Given the description of an element on the screen output the (x, y) to click on. 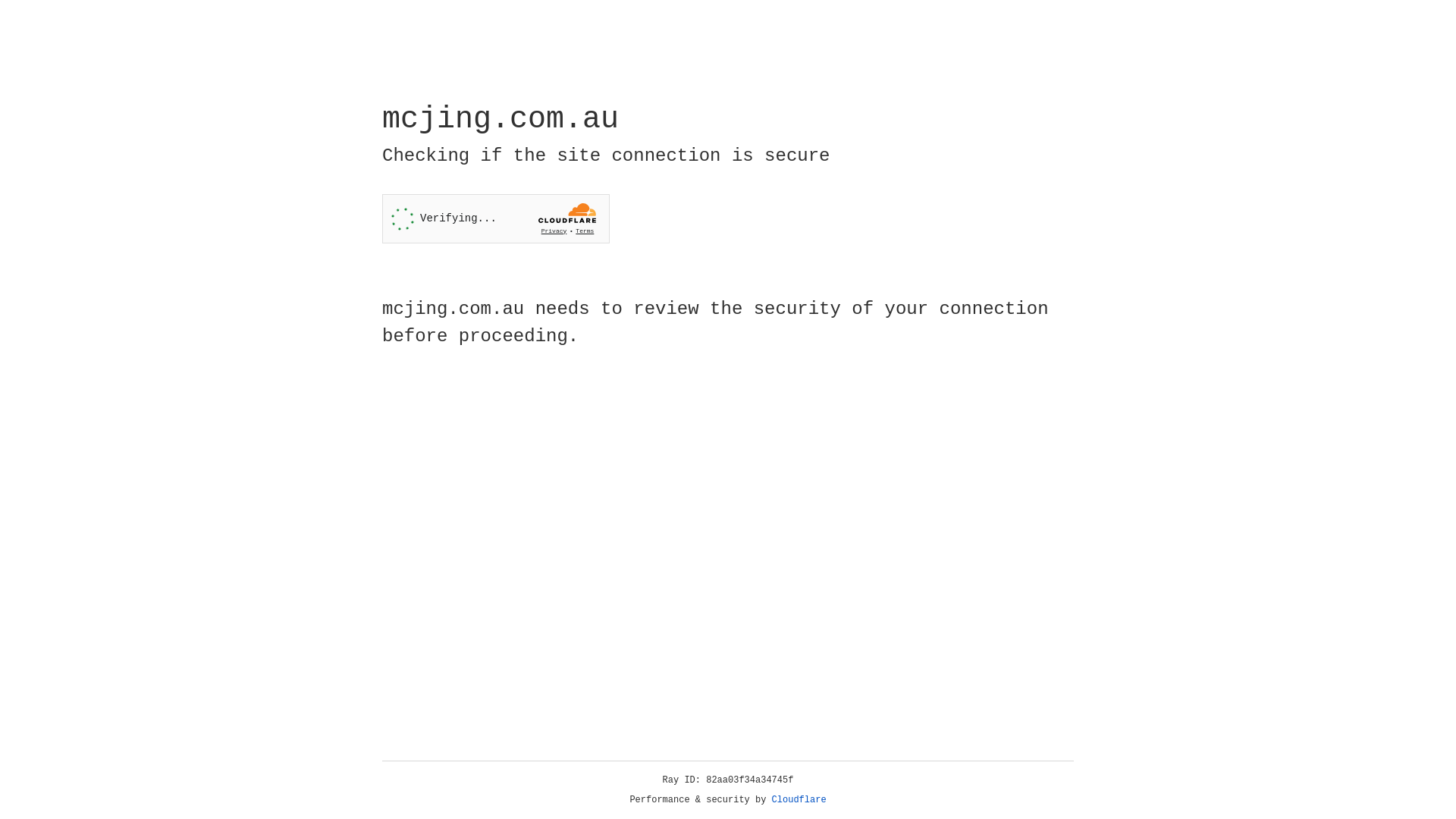
Widget containing a Cloudflare security challenge Element type: hover (495, 218)
Cloudflare Element type: text (798, 799)
